Given the description of an element on the screen output the (x, y) to click on. 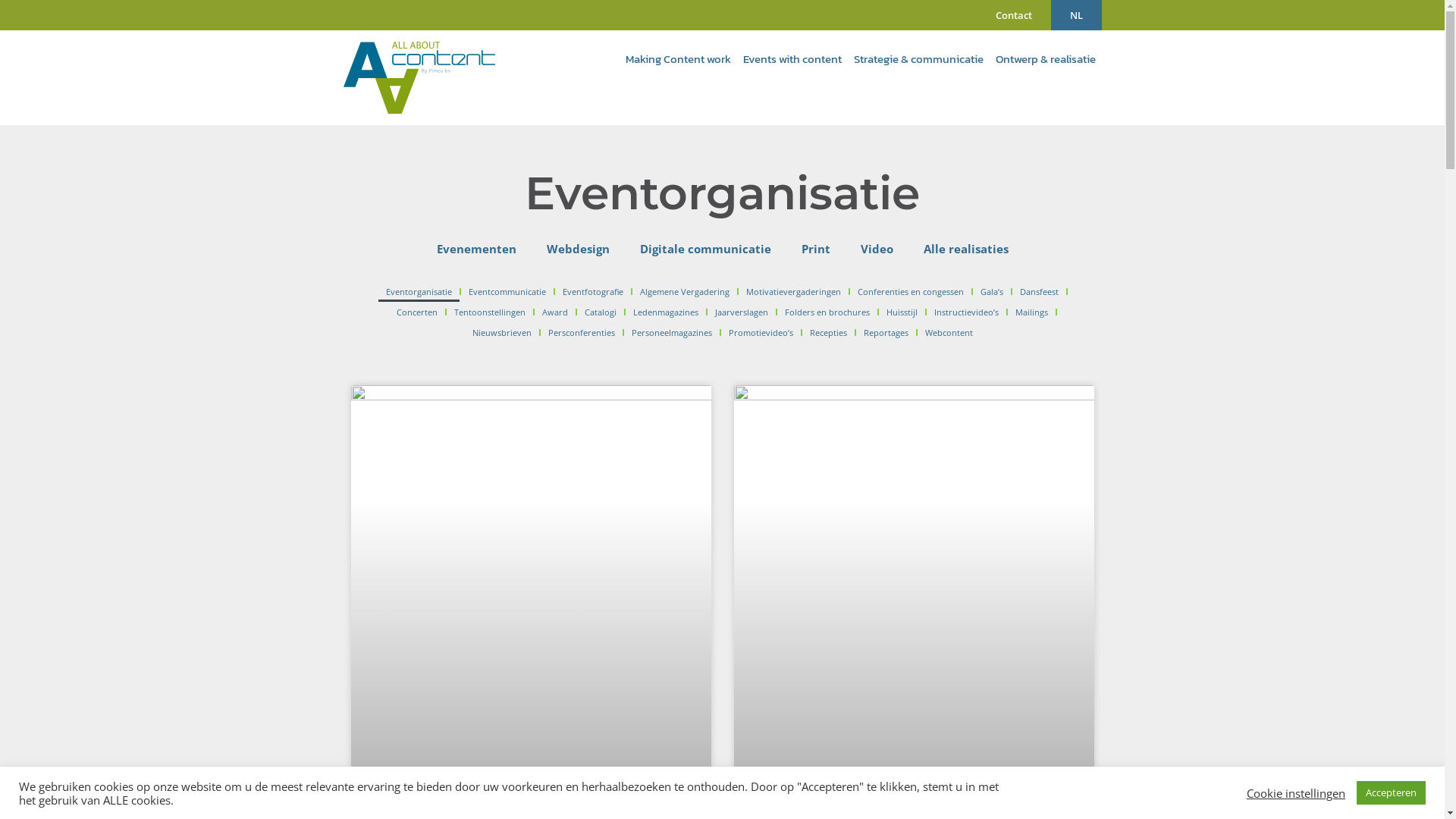
Accepteren Element type: text (1390, 792)
Eventorganisatie Element type: text (417, 291)
Cookie instellingen Element type: text (1295, 792)
Dansfeest Element type: text (1038, 291)
Making Content work Element type: text (677, 58)
Nieuwsbrieven Element type: text (501, 333)
Print Element type: text (814, 248)
Concerten Element type: text (416, 312)
Eventfotografie Element type: text (592, 291)
Tentoonstellingen Element type: text (488, 312)
Jaarverslagen Element type: text (740, 312)
Personeelmagazines Element type: text (670, 333)
Alle realisaties Element type: text (965, 248)
Contact Element type: text (1013, 15)
Motivatievergaderingen Element type: text (792, 291)
Algemene Vergadering Element type: text (683, 291)
Ledenmagazines Element type: text (664, 312)
Recepties Element type: text (828, 333)
Ontwerp & realisatie Element type: text (1044, 58)
Events with content Element type: text (792, 58)
Folders en brochures Element type: text (826, 312)
Persconferenties Element type: text (580, 333)
Strategie & communicatie Element type: text (918, 58)
Webdesign Element type: text (577, 248)
Award Element type: text (553, 312)
Catalogi Element type: text (599, 312)
Video Element type: text (875, 248)
Webcontent Element type: text (948, 333)
Reportages Element type: text (885, 333)
Huisstijl Element type: text (901, 312)
NL Element type: text (1076, 15)
Mailings Element type: text (1030, 312)
Digitale communicatie Element type: text (705, 248)
Evenementen Element type: text (476, 248)
Conferenties en congessen Element type: text (909, 291)
Eventcommunicatie Element type: text (506, 291)
